Given the description of an element on the screen output the (x, y) to click on. 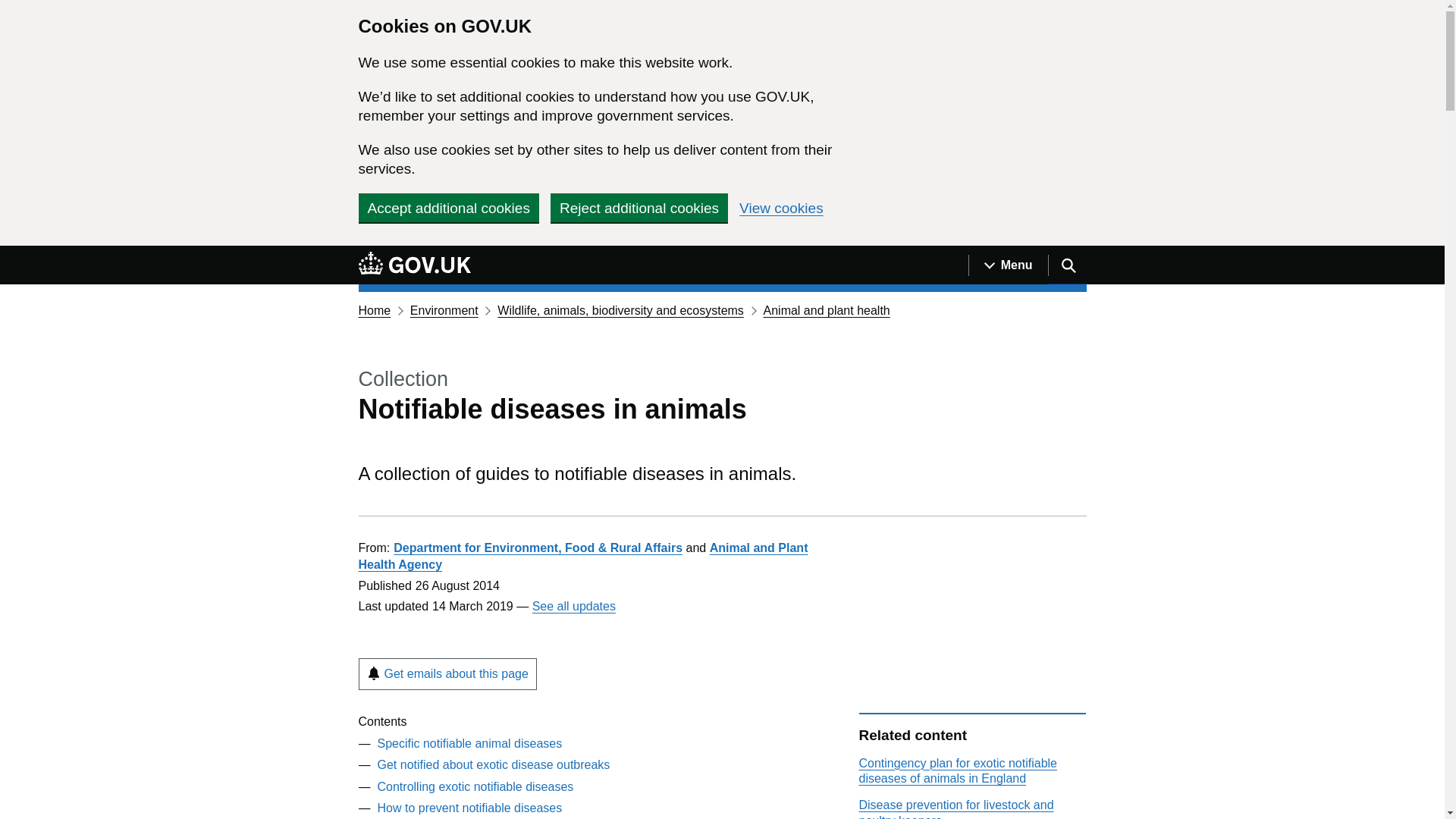
GOV.UK (414, 264)
GOV.UK (414, 262)
Environment (444, 309)
Skip to main content (11, 254)
Menu (1008, 265)
Wildlife, animals, biodiversity and ecosystems (620, 309)
Controlling exotic notifiable diseases (475, 786)
Get notified about exotic disease outbreaks (493, 764)
Get emails about this page (446, 674)
Search GOV.UK (1067, 265)
